Given the description of an element on the screen output the (x, y) to click on. 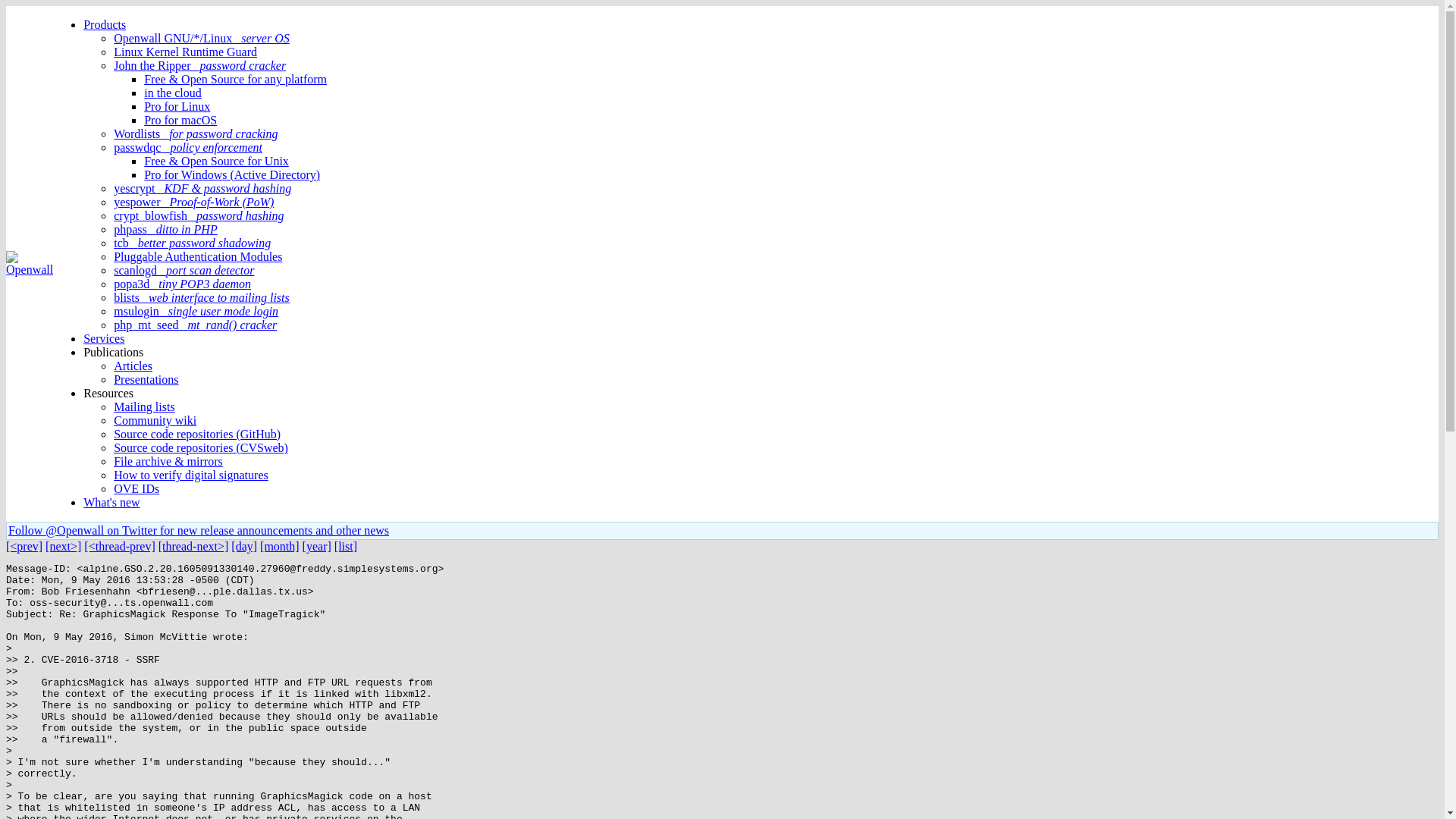
Pluggable Authentication Modules (197, 256)
John the Ripper   password cracker (199, 65)
What's new (110, 502)
Linux Kernel Runtime Guard (185, 51)
Presentations (145, 379)
msulogin   single user mode login (195, 310)
Mailing lists (143, 406)
Services (102, 338)
Publications (112, 351)
Resources (107, 392)
